Given the description of an element on the screen output the (x, y) to click on. 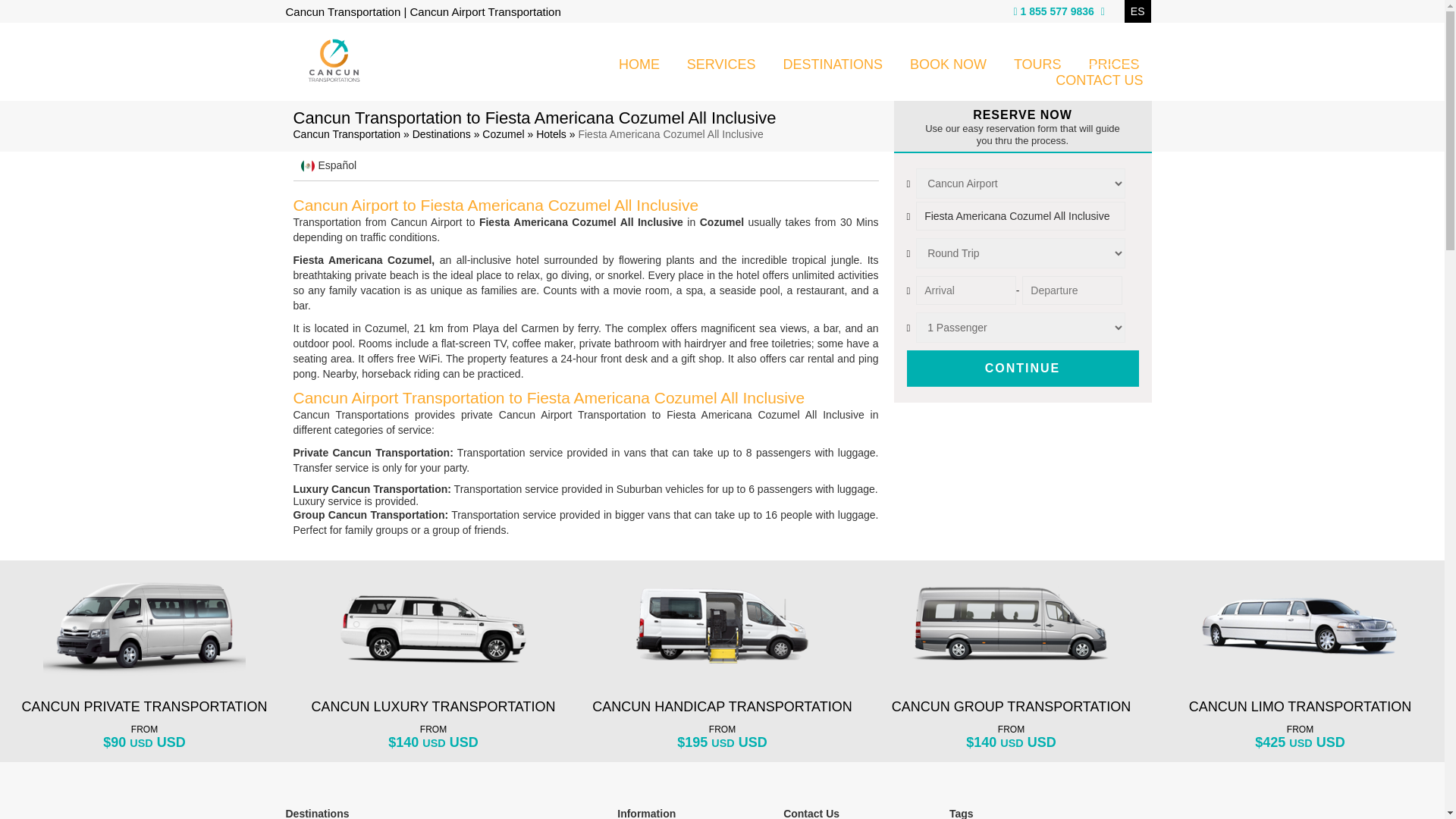
Private Cancun Transportation to Cancun and Riviera Maya (832, 62)
ES (1137, 11)
Cancun transportation prices (1113, 62)
Cancun and Riviera Maya Private Tours (1038, 62)
TOURS (1038, 62)
CANCUN PRIVATE TRANSPORTATION (144, 706)
Book your Private Cancun Transportation (947, 62)
Cancun Transportation to Cozumel (502, 133)
